Given the description of an element on the screen output the (x, y) to click on. 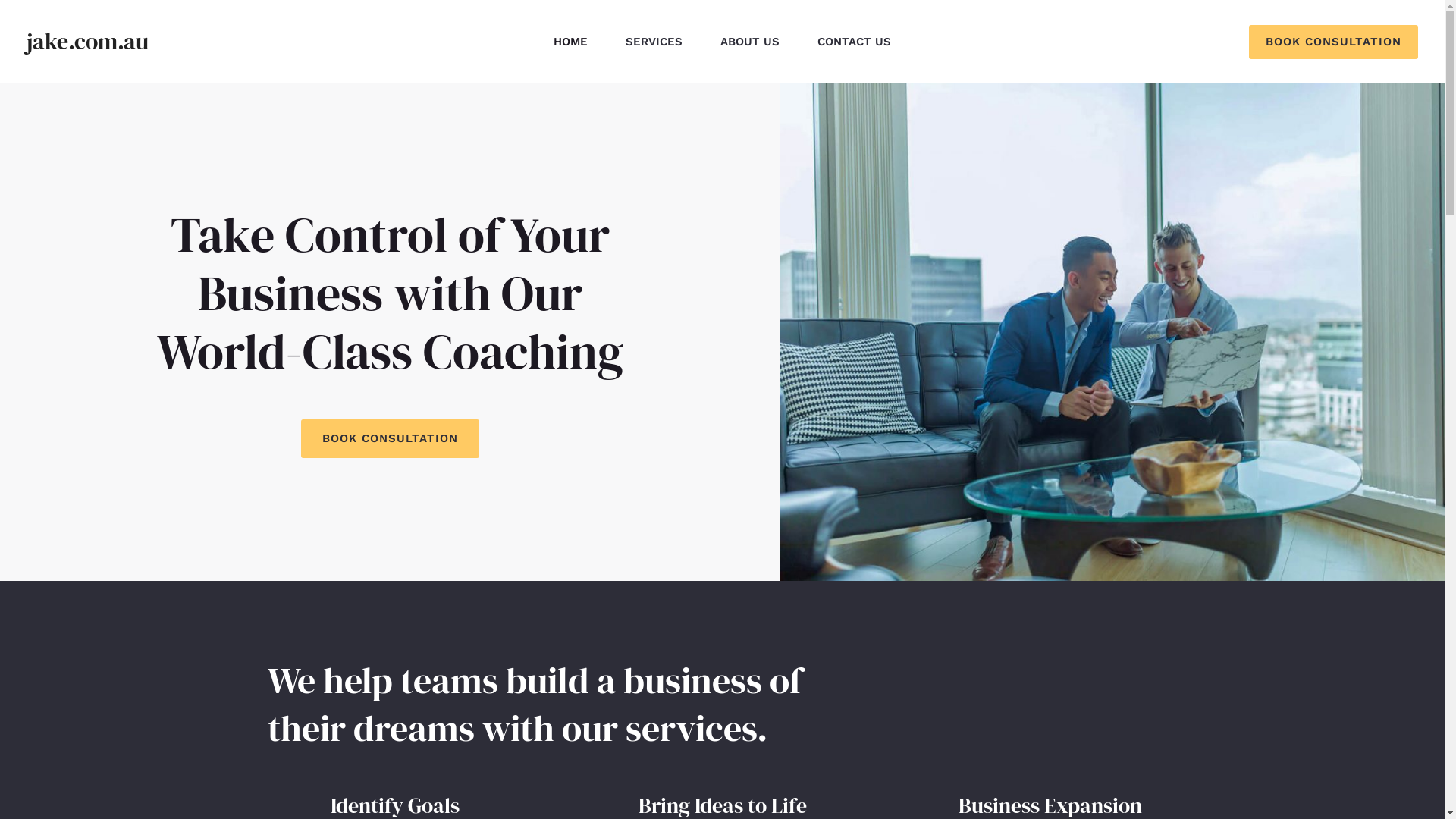
BOOK CONSULTATION Element type: text (1333, 41)
jake.com.au Element type: text (87, 40)
ABOUT US Element type: text (749, 41)
HOME Element type: text (570, 41)
SERVICES Element type: text (653, 41)
BOOK CONSULTATION Element type: text (390, 438)
CONTACT US Element type: text (854, 41)
